Given the description of an element on the screen output the (x, y) to click on. 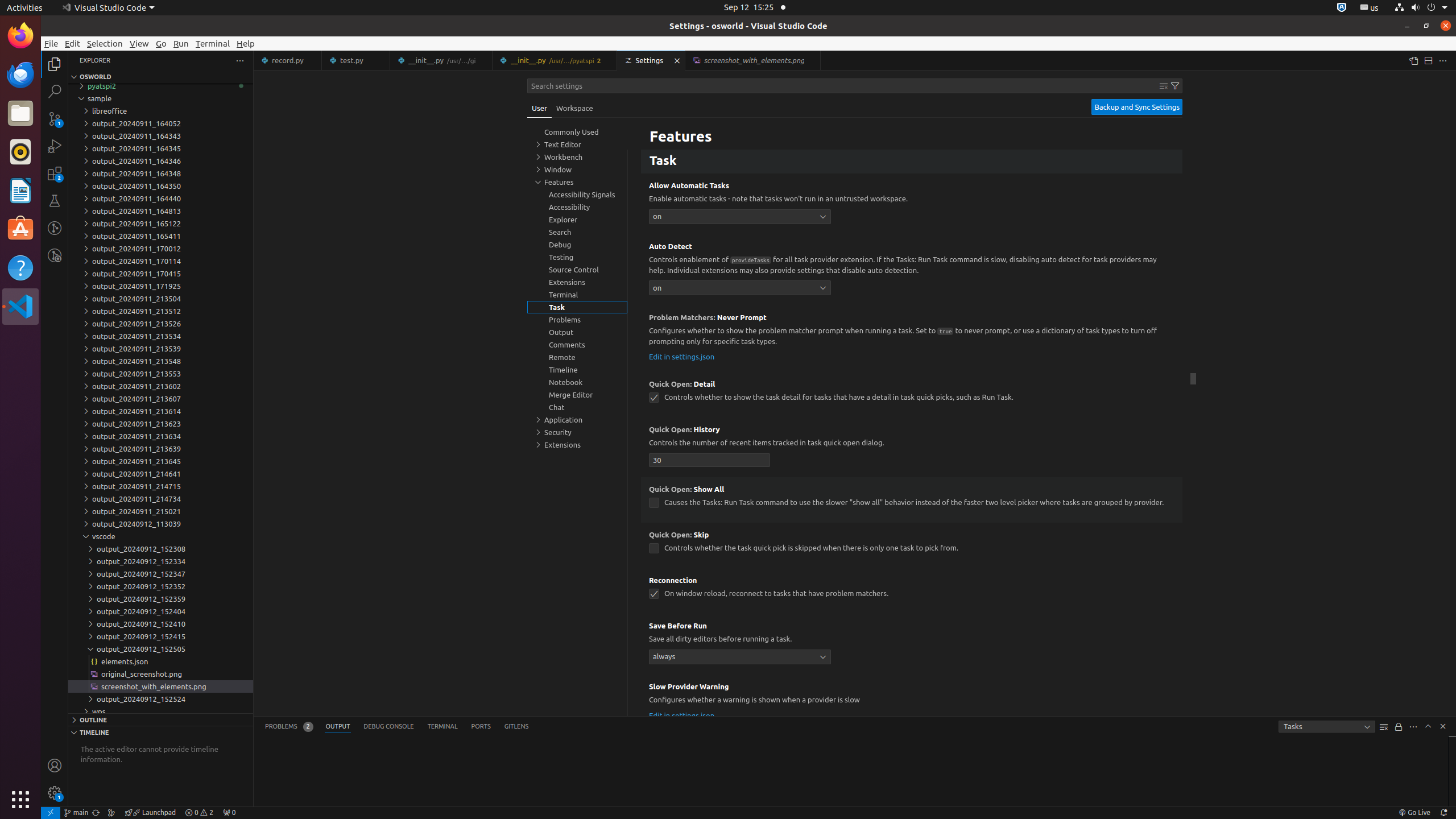
Edit in settings.json: task.problemMatchers.neverPrompt Element type: push-button (681, 356)
Edit Element type: push-button (72, 43)
Selection Element type: push-button (104, 43)
OSWorld (Git) - main, Checkout Branch/Tag... Element type: push-button (75, 812)
output_20240912_152308 Element type: tree-item (160, 548)
